Given the description of an element on the screen output the (x, y) to click on. 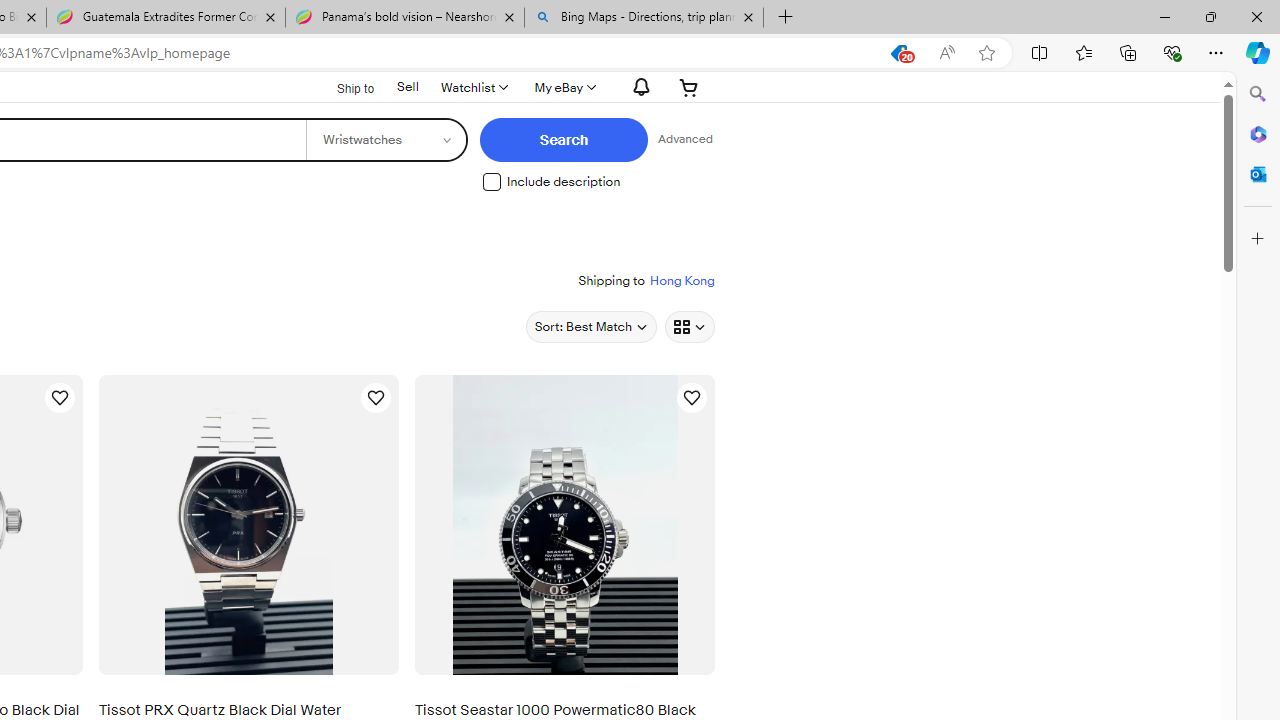
Shipping toHong Kong (646, 280)
Expand Cart (688, 87)
Sort selector. Best Match selected. (590, 326)
Select a category for search (384, 139)
Include description (491, 181)
Listing options selector. Gallery View selected. (690, 326)
Ship to (343, 88)
